Given the description of an element on the screen output the (x, y) to click on. 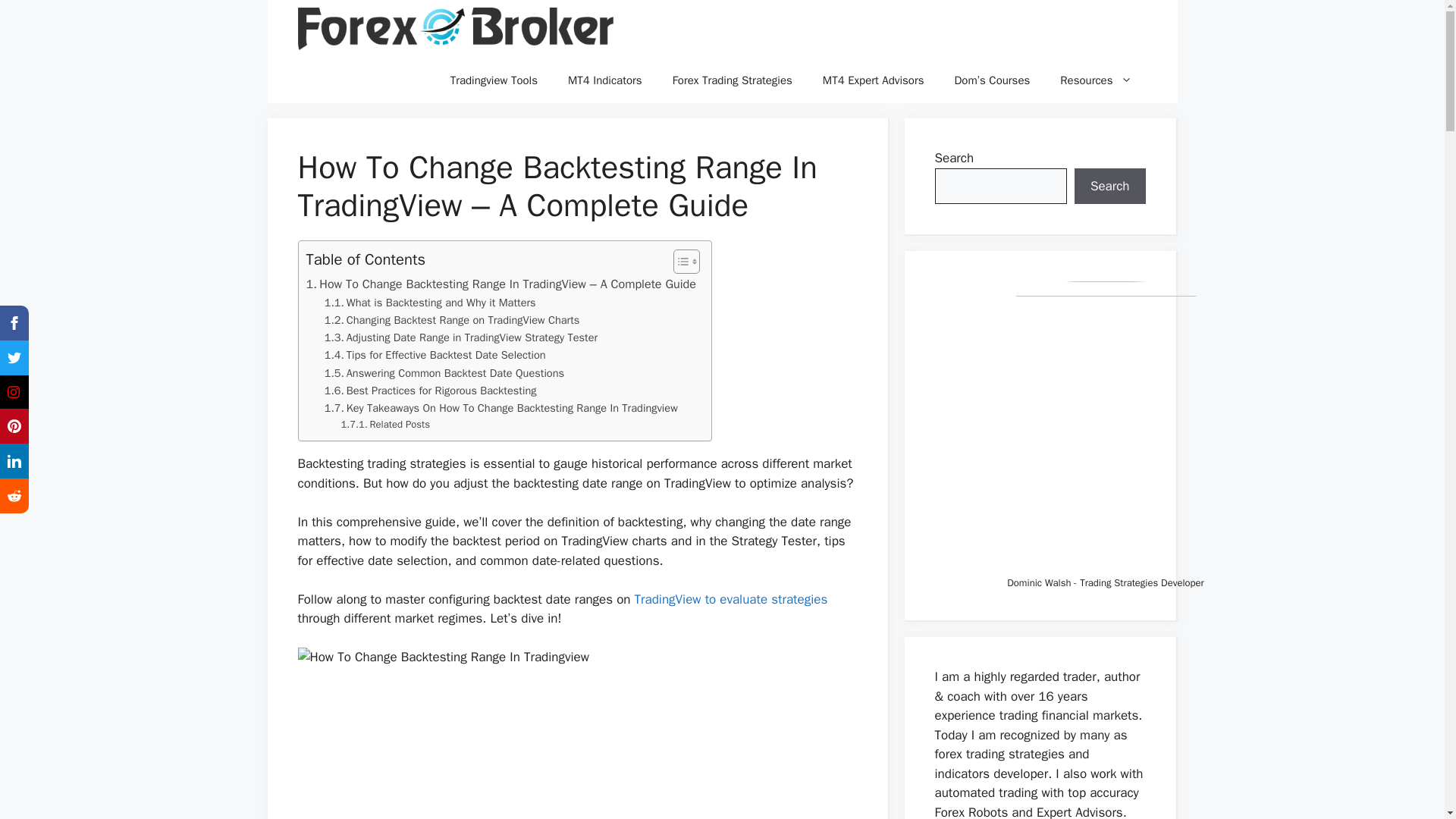
What is Backtesting and Why it Matters (429, 303)
Adjusting Date Range in TradingView Strategy Tester (460, 337)
Forexobroker (454, 28)
Best Practices for Rigorous Backtesting (430, 390)
Answering Common Backtest Date Questions (444, 373)
MT4 Indicators (605, 80)
Resources (1096, 80)
Adjusting Date Range in TradingView Strategy Tester (460, 337)
